Given the description of an element on the screen output the (x, y) to click on. 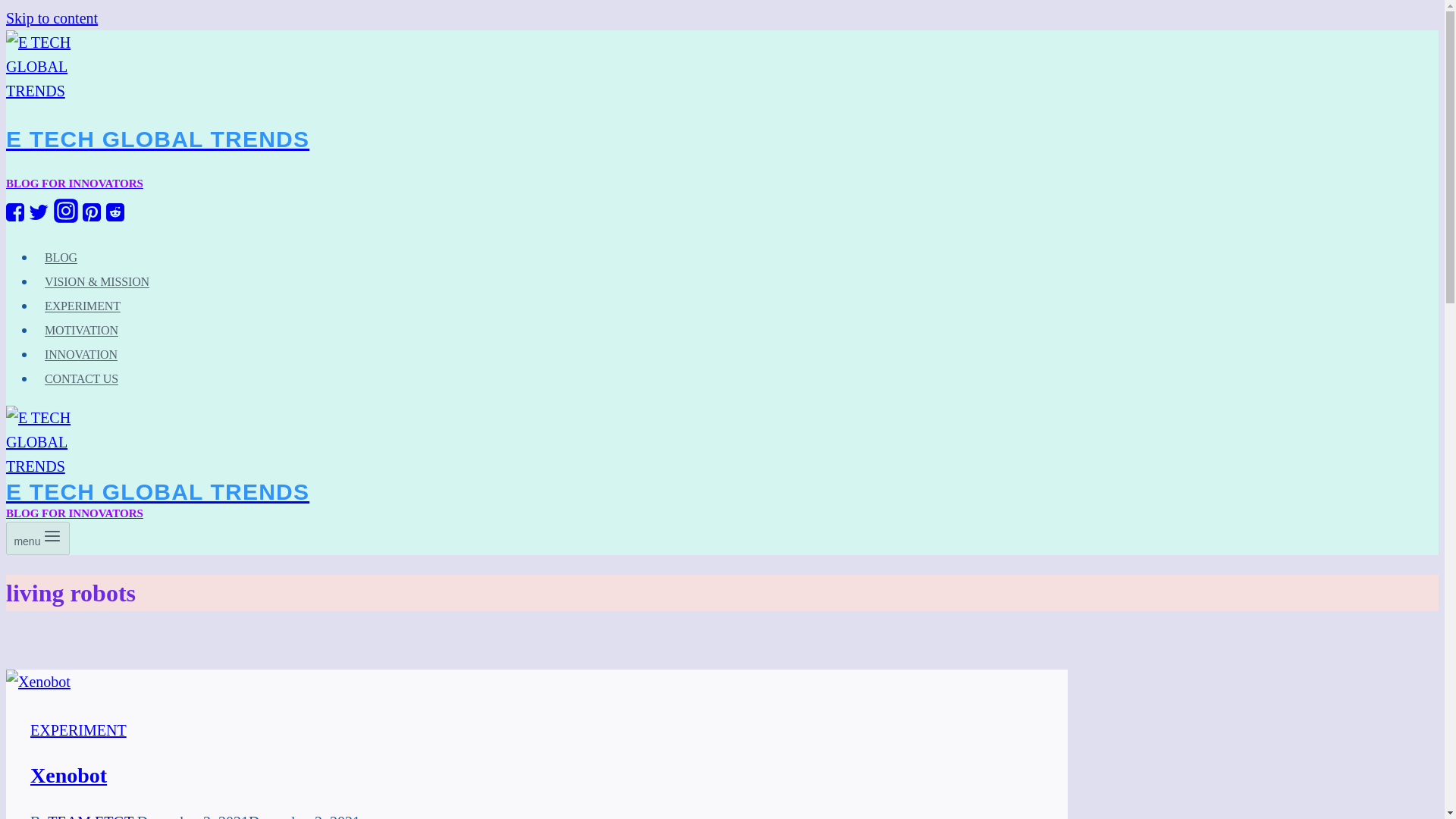
Facebook (14, 217)
Twitter (38, 217)
INNOVATION (80, 354)
MOTIVATION (81, 330)
Instagram (65, 217)
EXPERIMENT (534, 489)
Reddit (82, 305)
Reddit (114, 217)
Skip to content (114, 211)
TEAM ETGT (51, 17)
CONTACT US (90, 816)
Pinterest (81, 378)
Pinterest (534, 136)
